Given the description of an element on the screen output the (x, y) to click on. 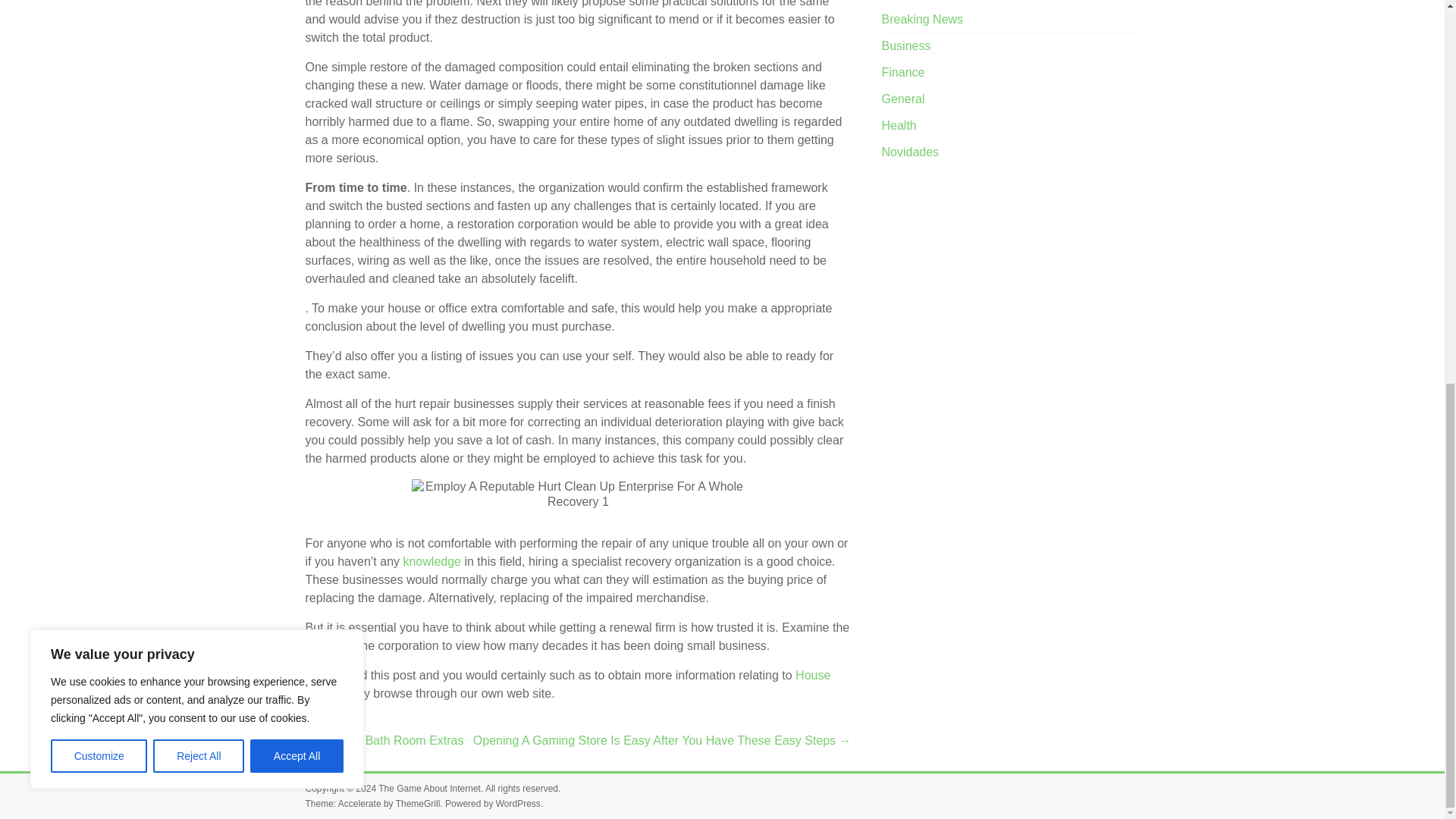
The Game About Internet (429, 787)
Customize (98, 36)
WordPress (518, 803)
House Flood (566, 684)
Reject All (198, 36)
Accelerate (359, 803)
knowledge (432, 561)
Accept All (296, 36)
